Given the description of an element on the screen output the (x, y) to click on. 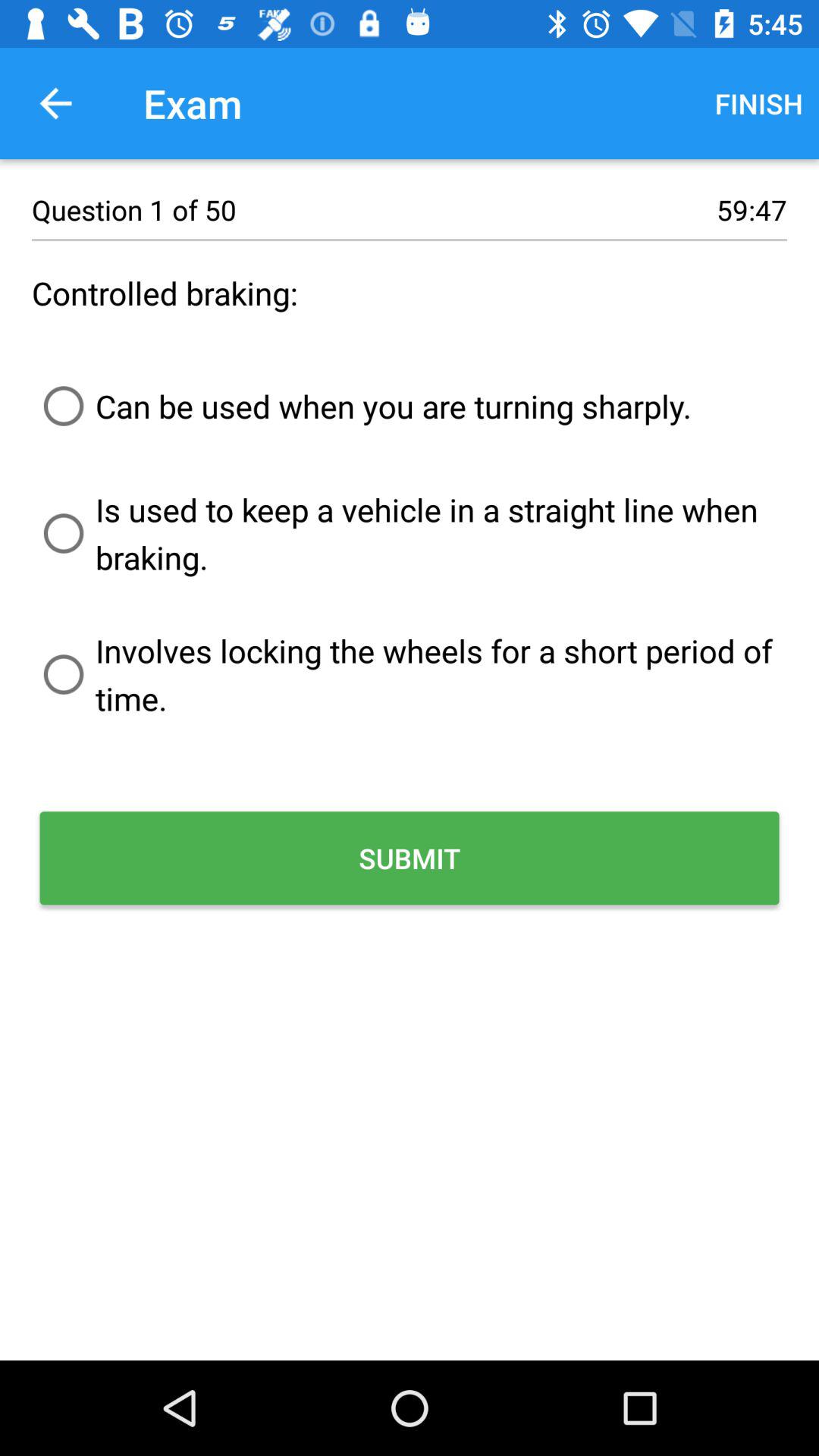
choose item below the can be used (409, 532)
